Given the description of an element on the screen output the (x, y) to click on. 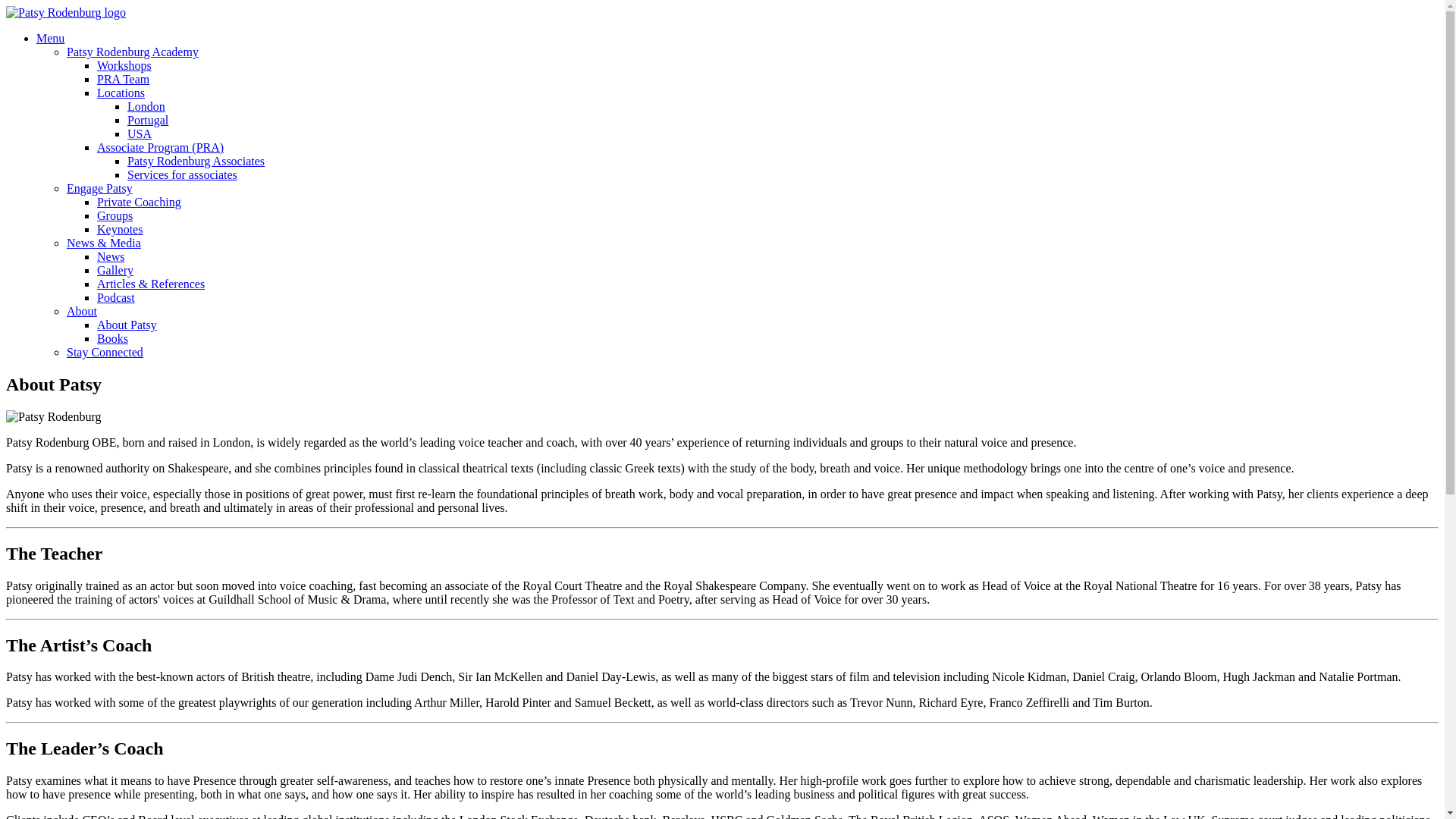
Private Coaching (138, 201)
Locations (120, 92)
Keynotes (119, 228)
Workshops (124, 65)
Engage Patsy (99, 187)
Menu (50, 38)
About (81, 310)
Groups (114, 215)
Books (112, 338)
Patsy Rodenburg Academy (132, 51)
